Given the description of an element on the screen output the (x, y) to click on. 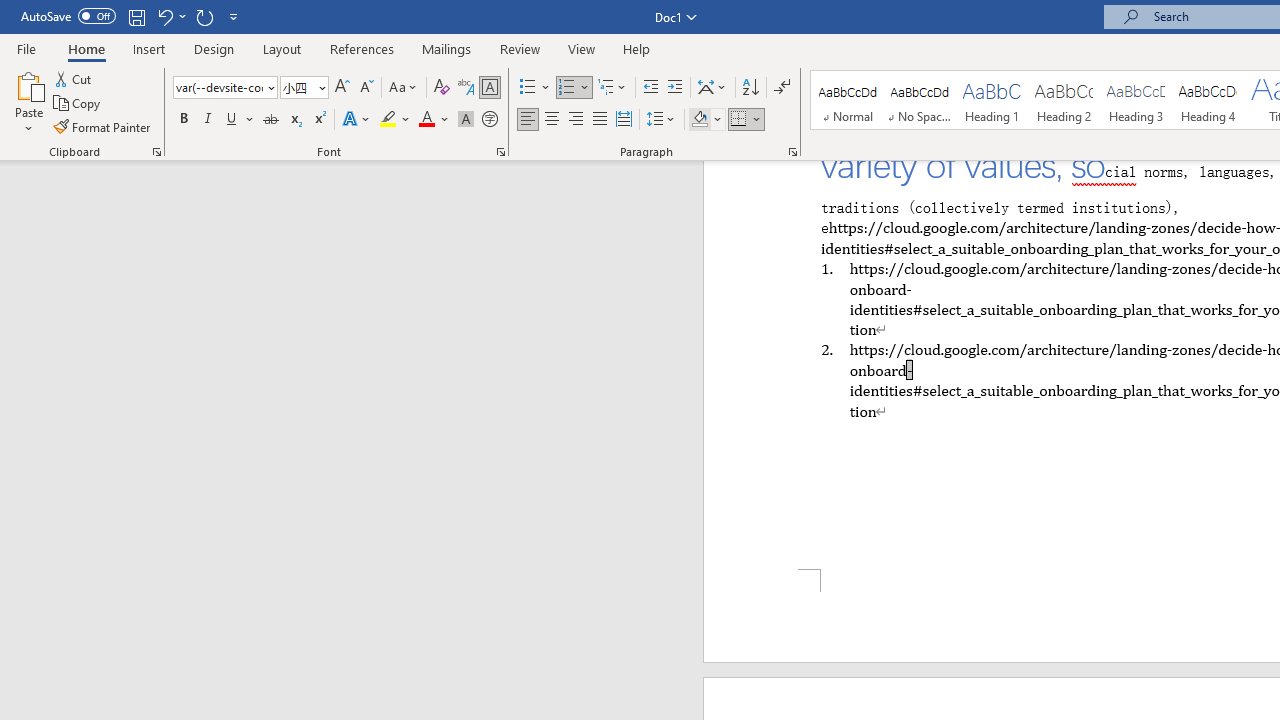
Distributed (623, 119)
Subscript (294, 119)
Enclose Characters... (489, 119)
Character Border (489, 87)
Center (552, 119)
Justify (599, 119)
Undo Border Bottom (170, 15)
